Given the description of an element on the screen output the (x, y) to click on. 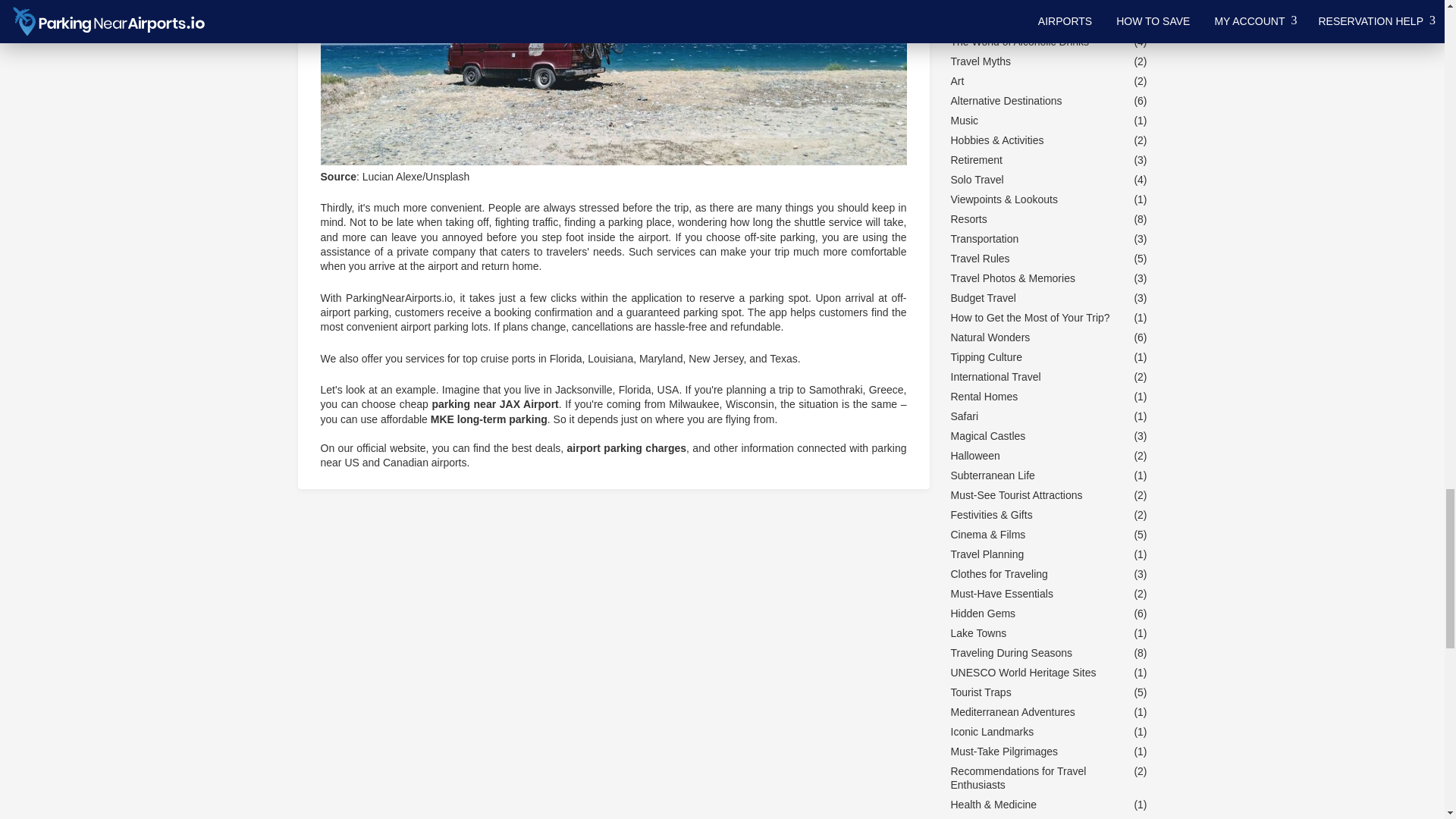
MKE long-term parking (488, 419)
airport parking charges (626, 448)
parking near JAX Airport (493, 404)
